Given the description of an element on the screen output the (x, y) to click on. 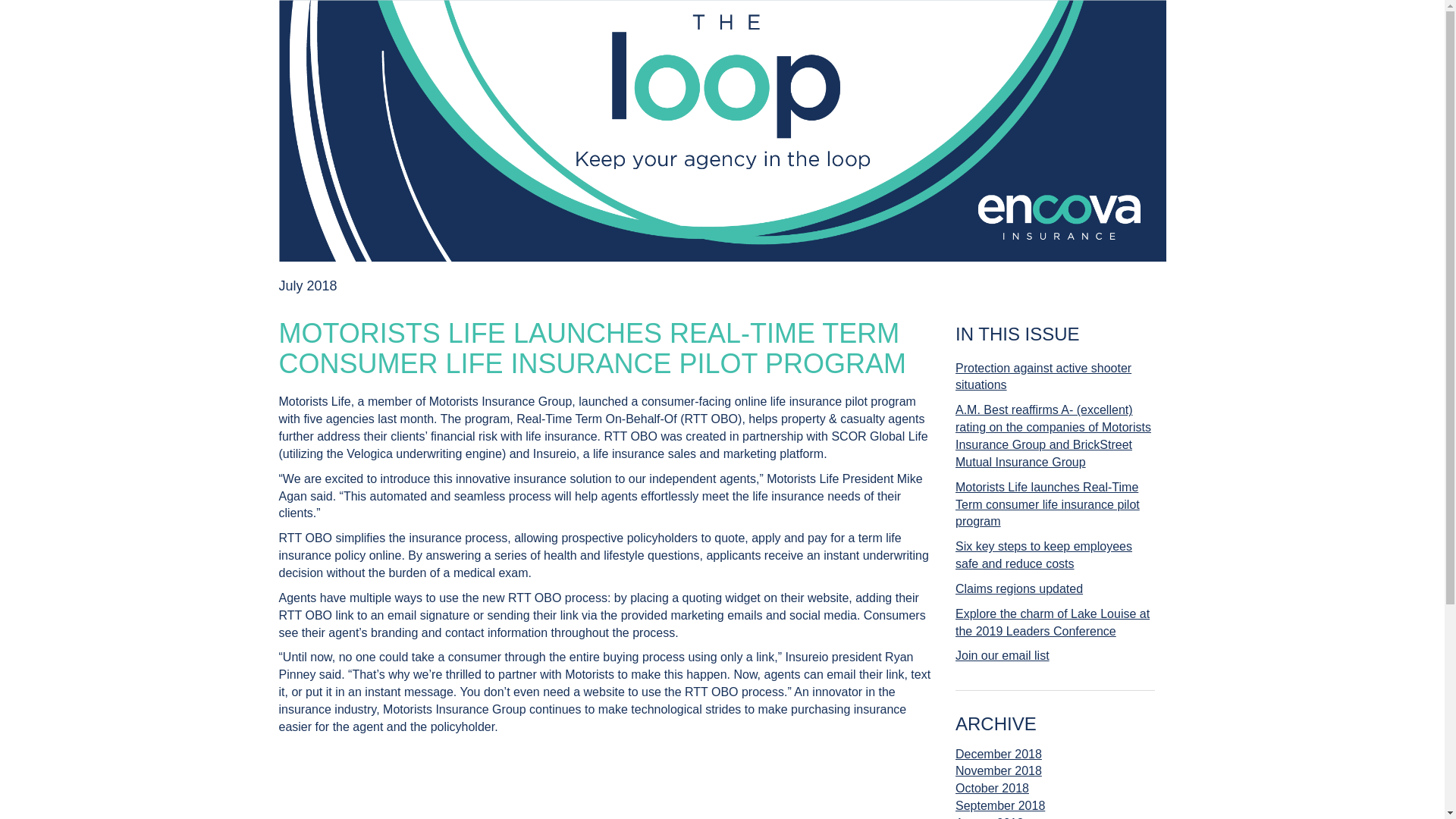
August 2018 (1000, 816)
Claims regions updated (1054, 589)
November 2018 (998, 779)
Join our email list (1054, 656)
September 2018 (1000, 807)
December 2018 (998, 753)
October 2018 (998, 796)
Protection against active shooter situations (1054, 377)
Six key steps to keep employees safe and reduce costs (1054, 555)
